Given the description of an element on the screen output the (x, y) to click on. 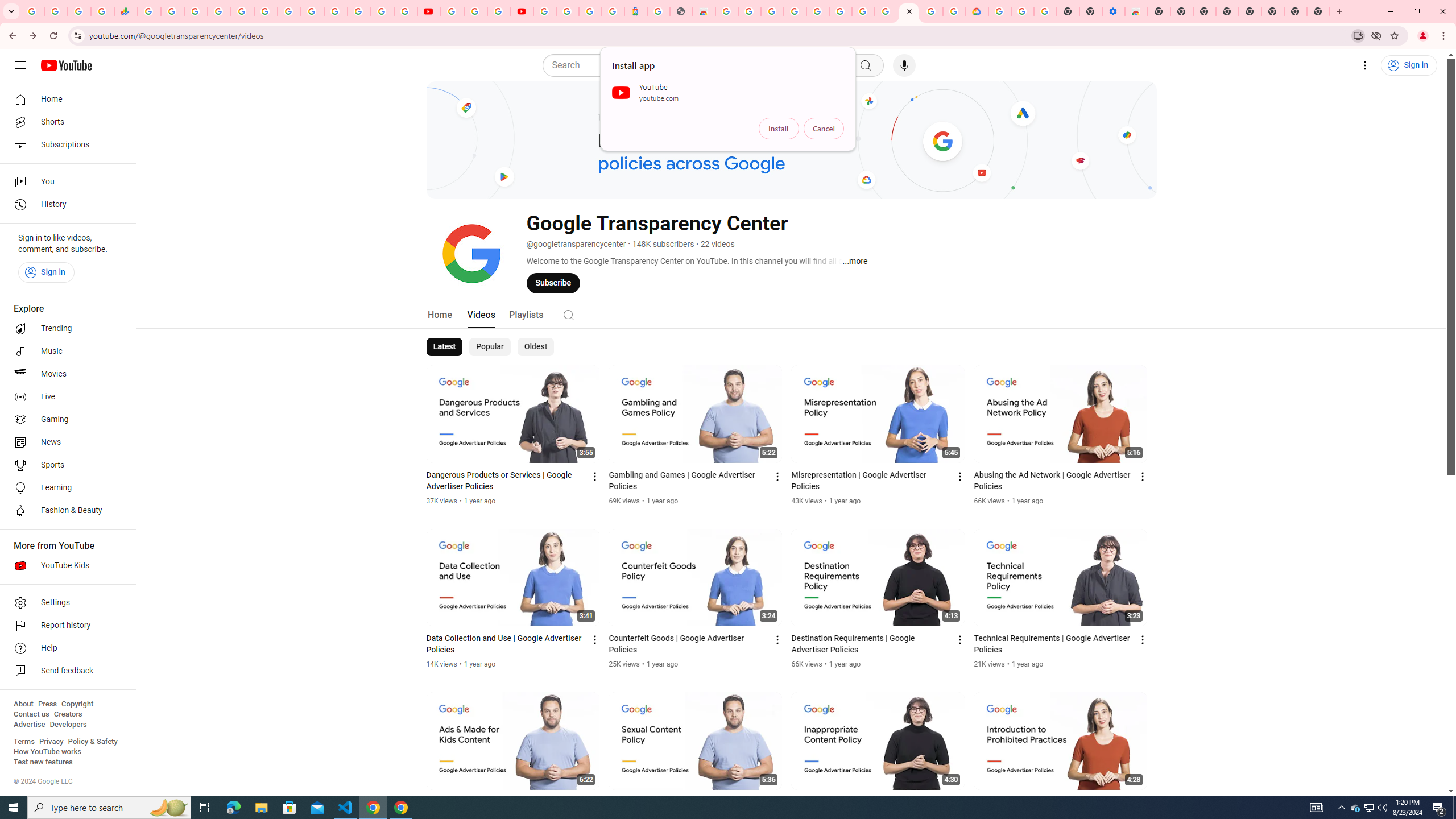
Android TV Policies and Guidelines - Transparency Center (288, 11)
Search with your voice (903, 65)
Create your Google Account (498, 11)
YouTube Kids (64, 565)
Oldest (534, 346)
Sports (64, 464)
Popular (489, 346)
Create your Google Account (931, 11)
YouTube Home (66, 65)
